Given the description of an element on the screen output the (x, y) to click on. 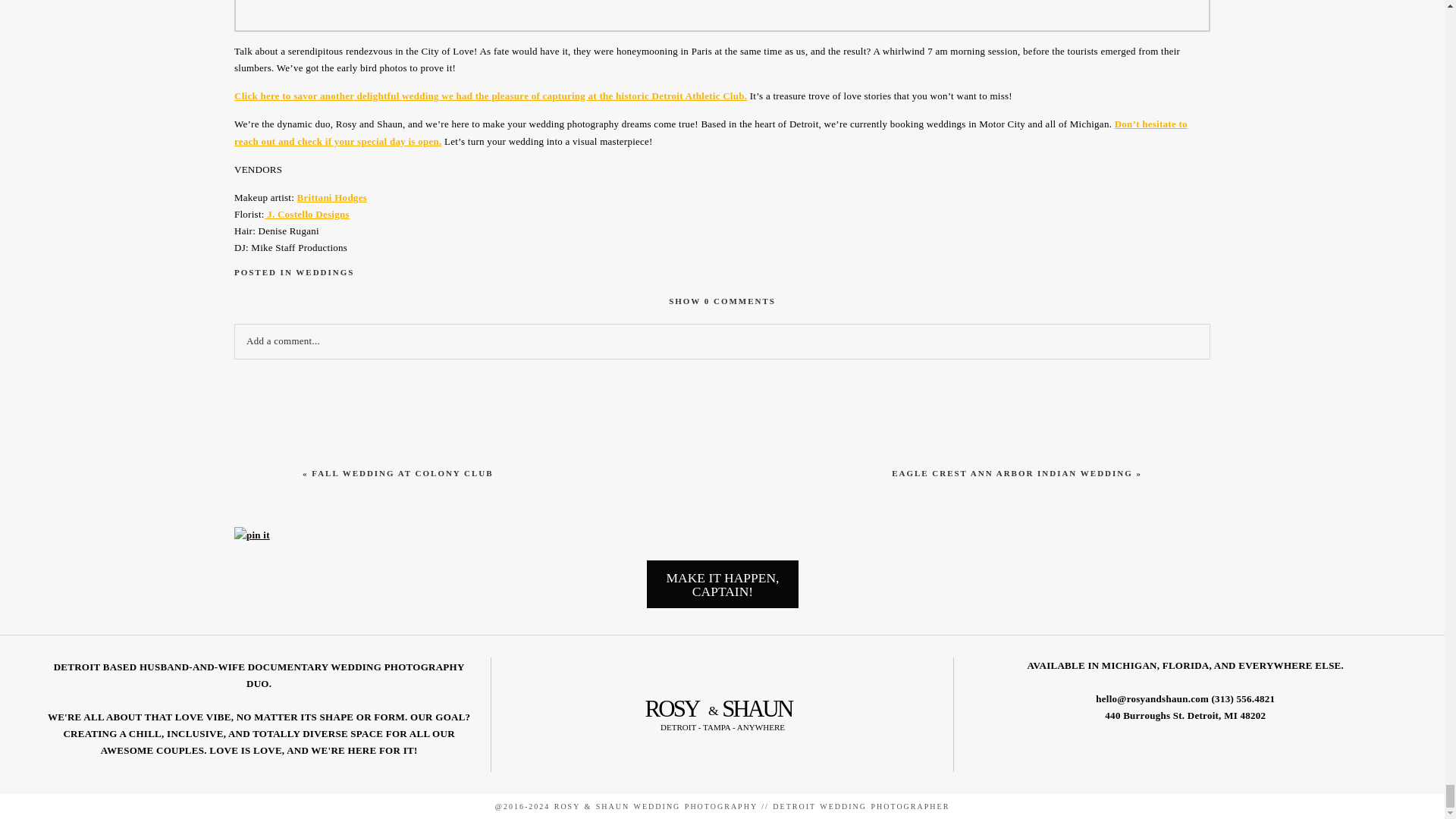
Brittani Hodges (331, 197)
WEDDINGS (324, 271)
EAGLE CREST ANN ARBOR INDIAN WEDDING (721, 584)
FALL WEDDING AT COLONY CLUB (1011, 472)
SHOW 0 COMMENTS (402, 472)
J. Costello Designs (722, 300)
